Given the description of an element on the screen output the (x, y) to click on. 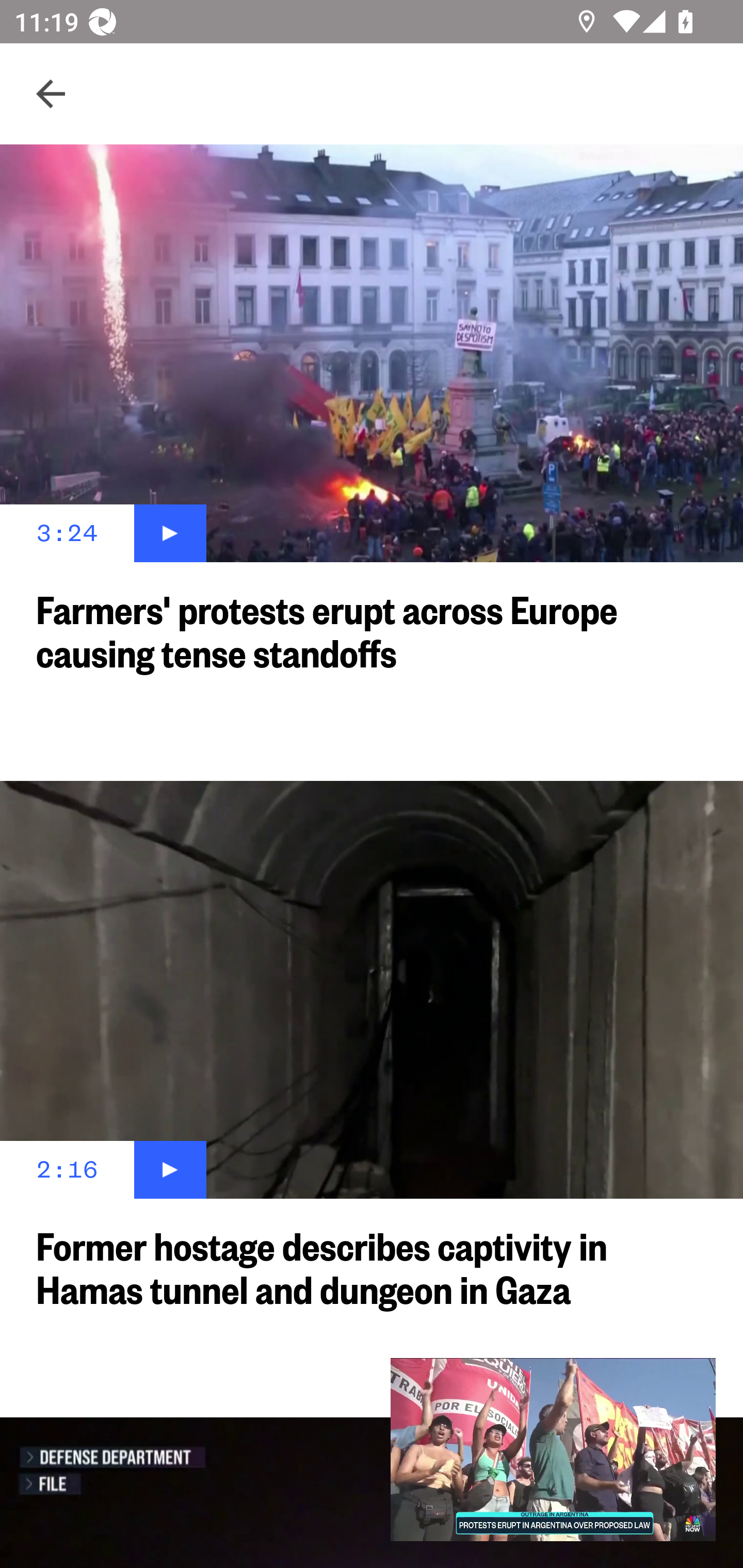
Navigate up (50, 93)
